Given the description of an element on the screen output the (x, y) to click on. 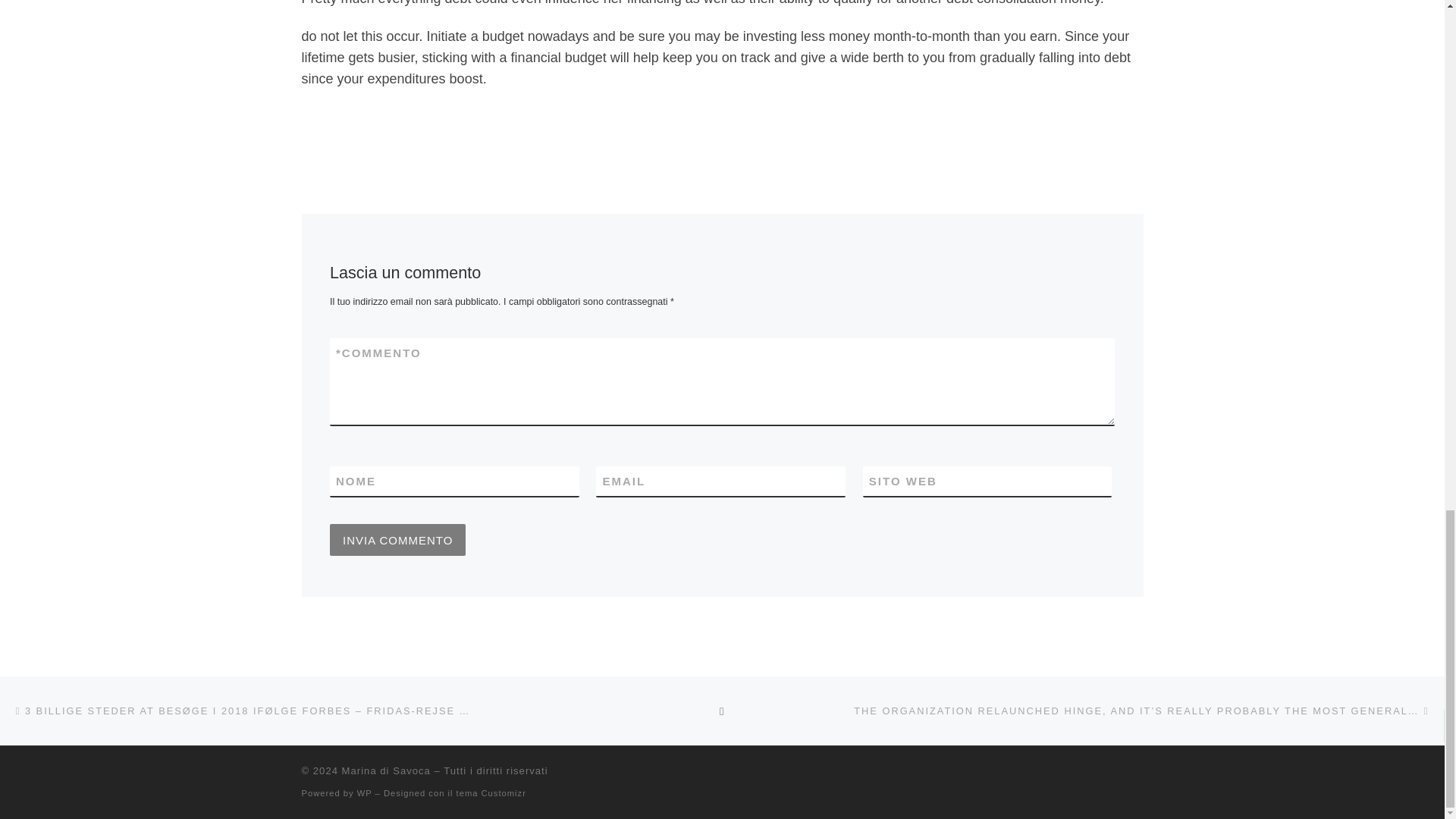
Powered by WordPress (364, 792)
Invia commento (397, 540)
Marina di Savoca (386, 770)
Invia commento (397, 540)
tema Customizr (491, 792)
